Given the description of an element on the screen output the (x, y) to click on. 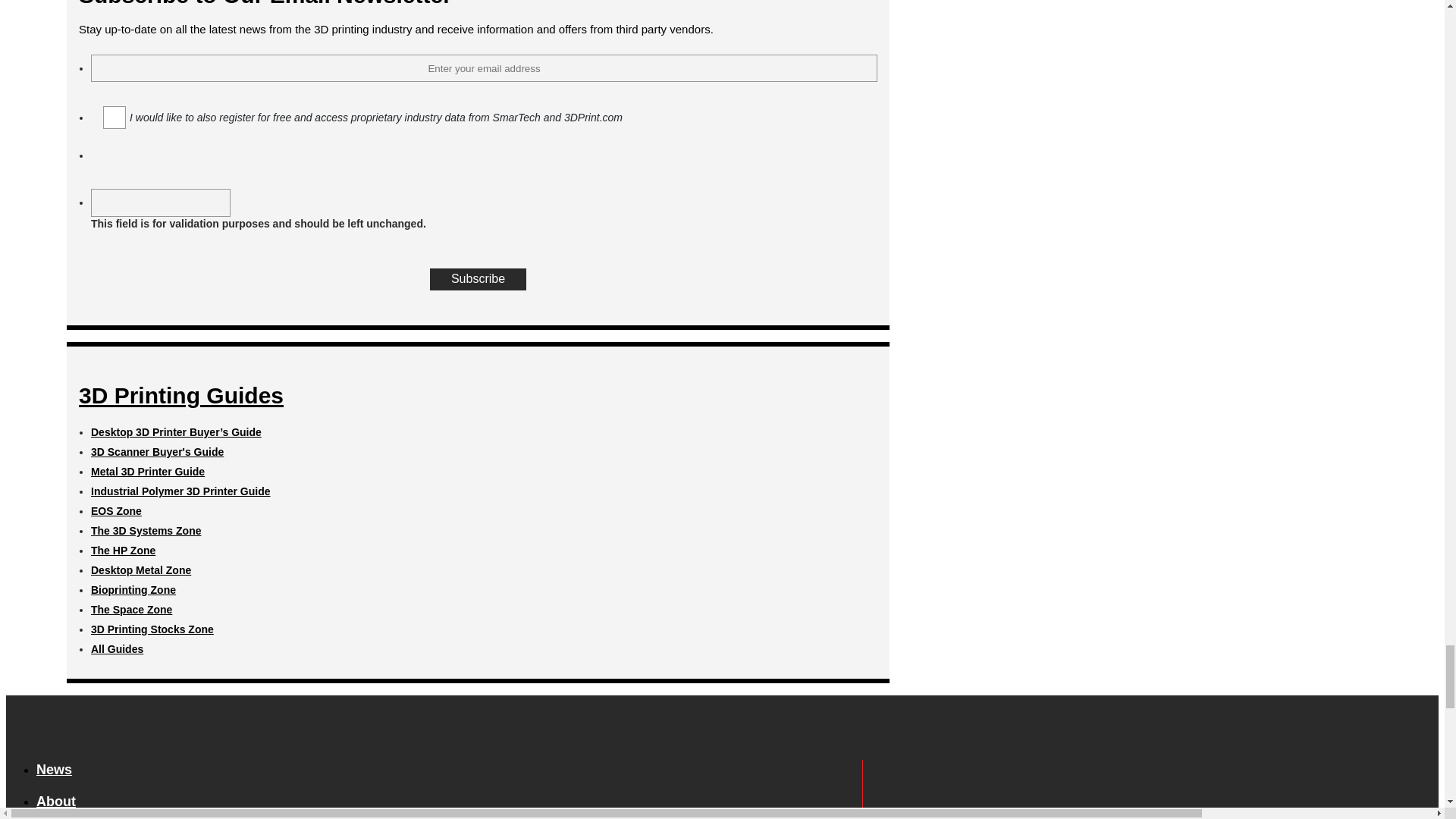
Subscribe (477, 279)
